Given the description of an element on the screen output the (x, y) to click on. 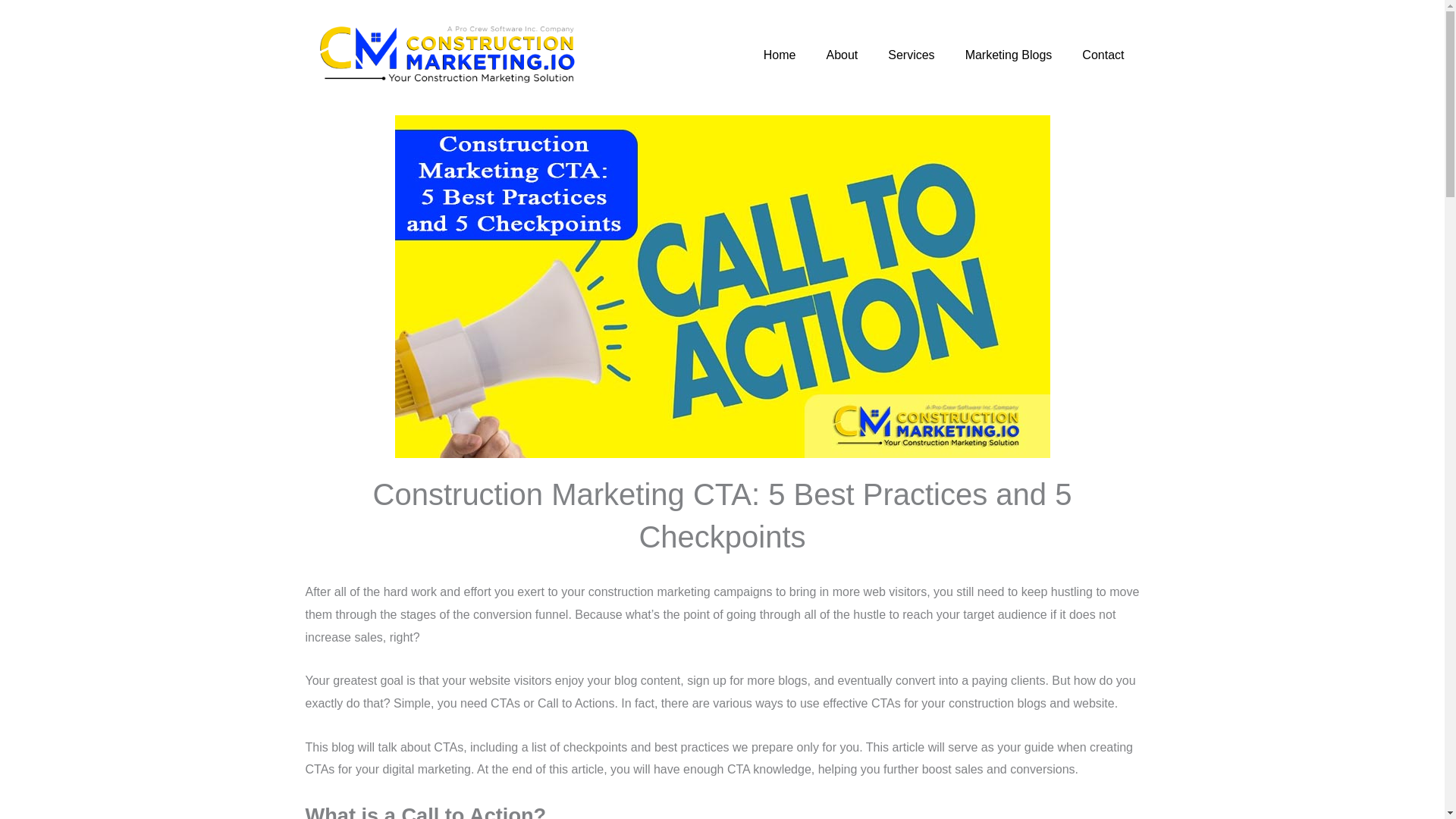
Home (779, 54)
About (841, 54)
Marketing Blogs (1008, 54)
Services (910, 54)
Contact (1102, 54)
